Given the description of an element on the screen output the (x, y) to click on. 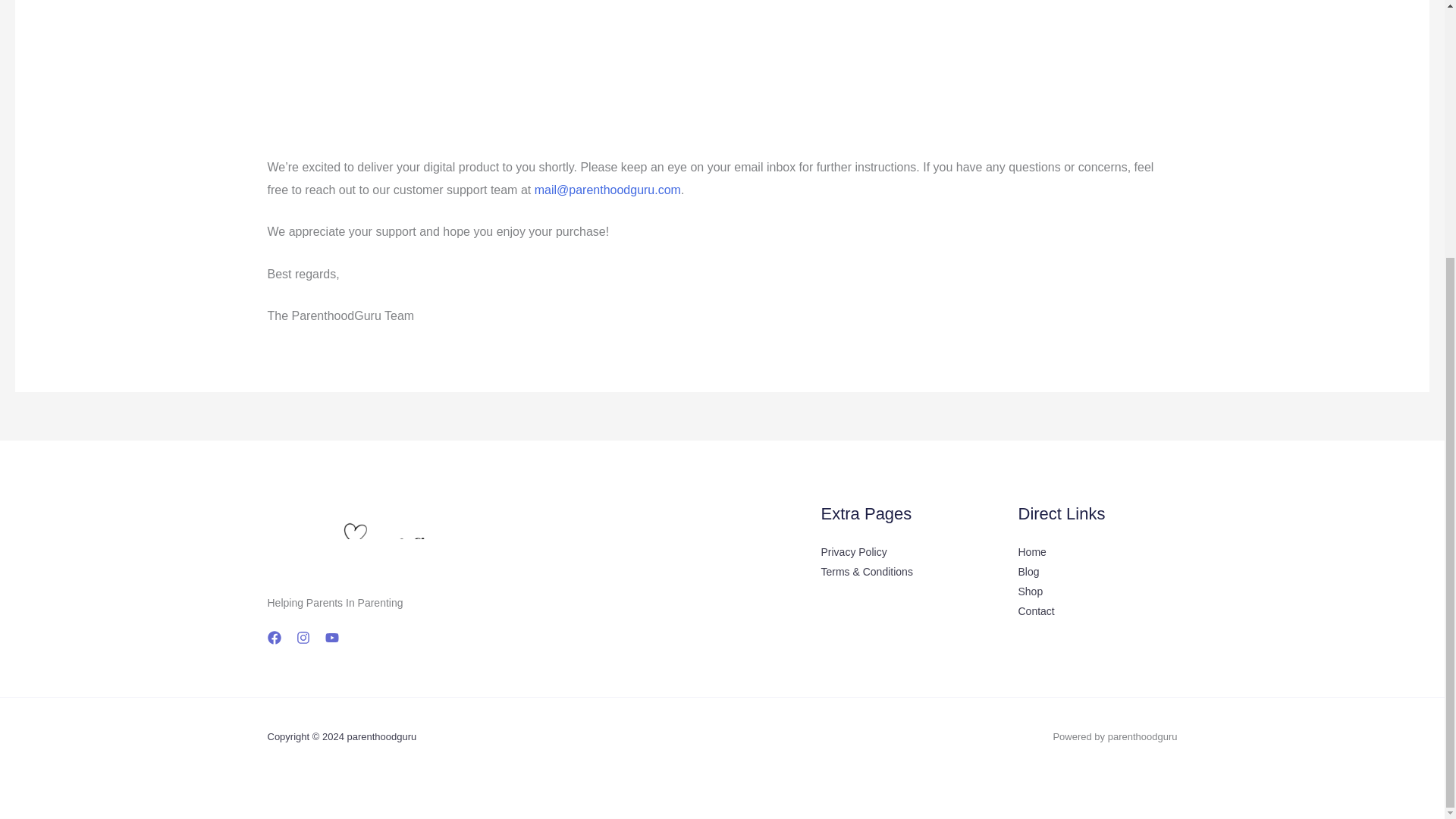
Contact (1035, 611)
Blog (1028, 571)
Home (1031, 551)
Privacy Policy (853, 551)
thanks digital product (443, 68)
Shop (1029, 591)
